Given the description of an element on the screen output the (x, y) to click on. 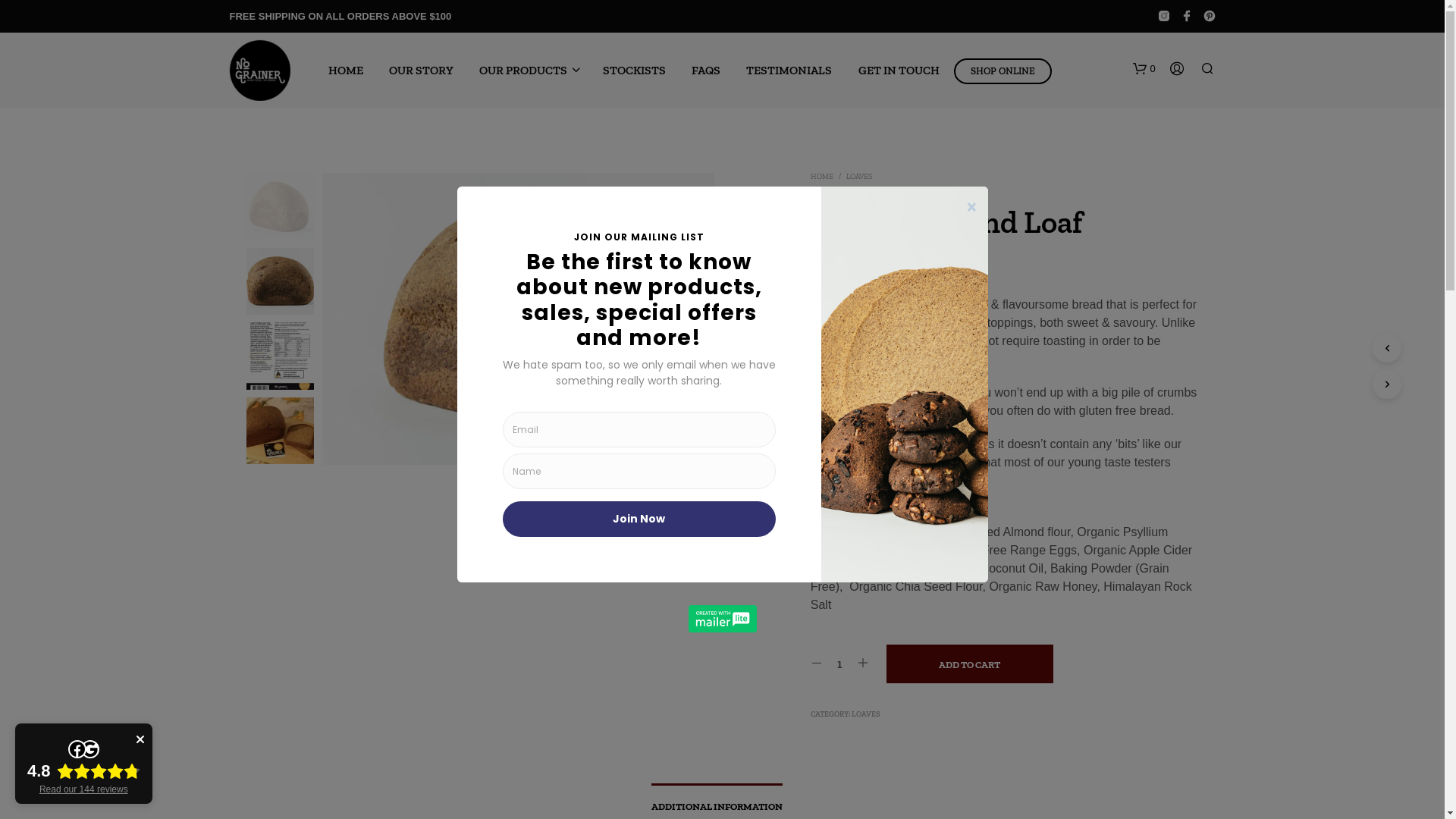
0 Element type: text (1143, 68)
HOME Element type: text (345, 69)
GET IN TOUCH Element type: text (898, 69)
SHOP ONLINE Element type: text (1002, 70)
OUR STORY Element type: text (420, 69)
ADD TO CART Element type: text (969, 663)
ADDITIONAL INFORMATION Element type: text (715, 801)
FAQS Element type: text (705, 69)
HOME Element type: text (821, 176)
OUR PRODUCTS Element type: text (522, 69)
Classic Almond Loaf Element type: hover (518, 318)
TESTIMONIALS Element type: text (788, 69)
LOAVES Element type: text (859, 176)
STOCKISTS Element type: text (634, 69)
LOAVES Element type: text (865, 713)
